Given the description of an element on the screen output the (x, y) to click on. 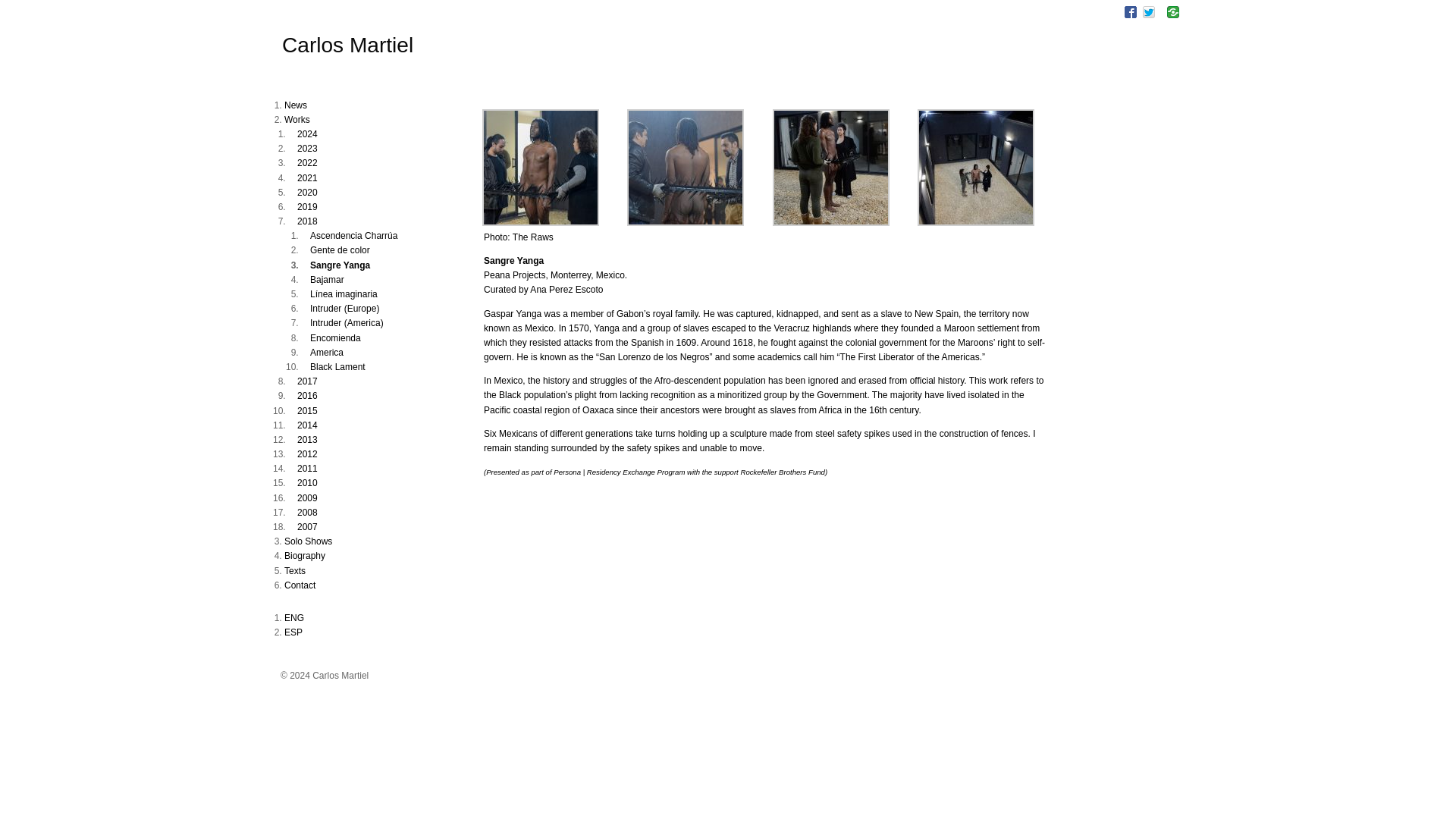
Sangre Yanga (685, 222)
News (295, 104)
2023 (307, 148)
Facebook (1130, 11)
Sangre Yanga (975, 222)
Works (296, 119)
Twitter (1148, 11)
ESP (292, 632)
Sangre Yanga (831, 222)
2022 (307, 163)
